Given the description of an element on the screen output the (x, y) to click on. 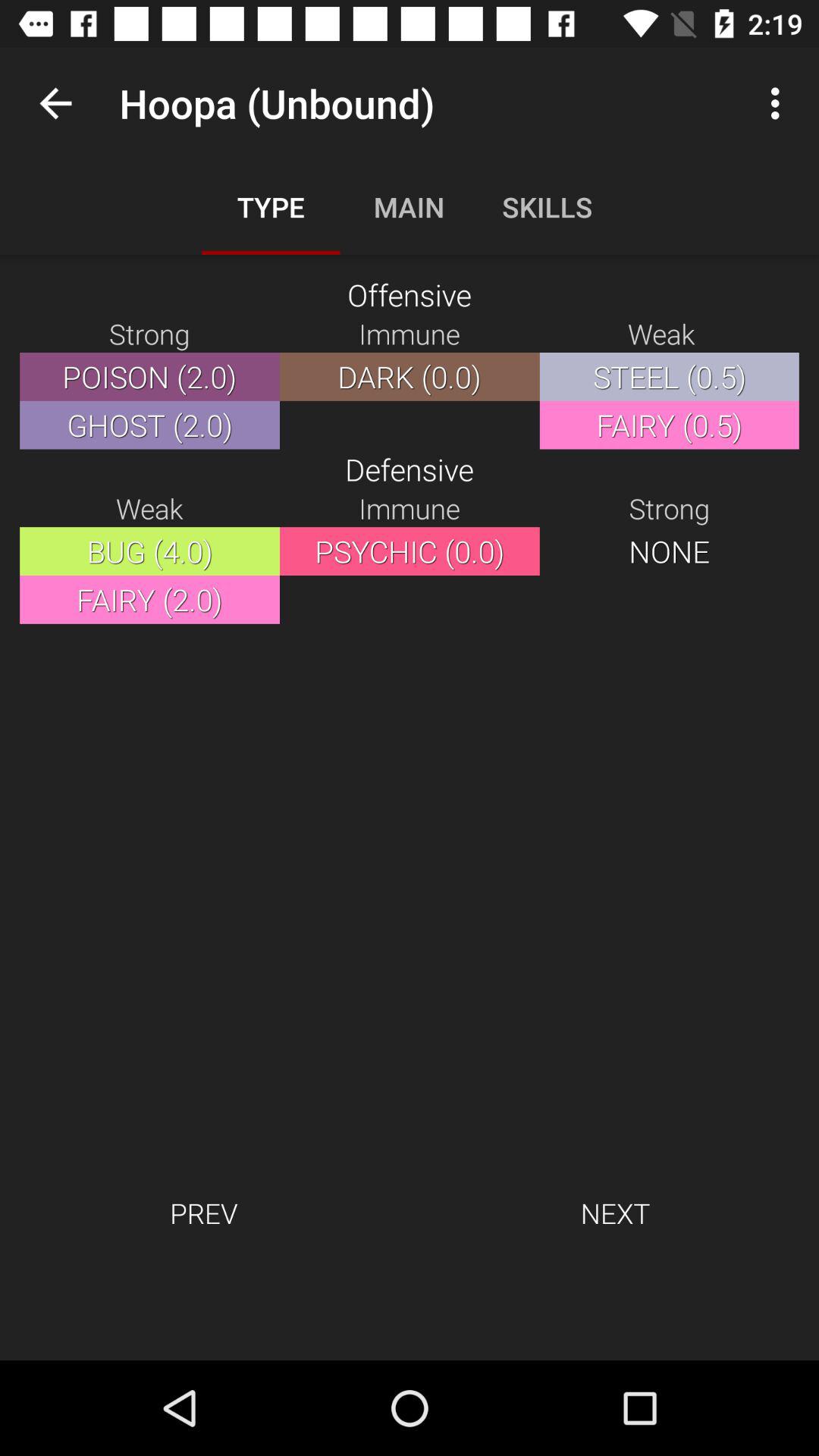
turn off the icon next to next (203, 1212)
